Given the description of an element on the screen output the (x, y) to click on. 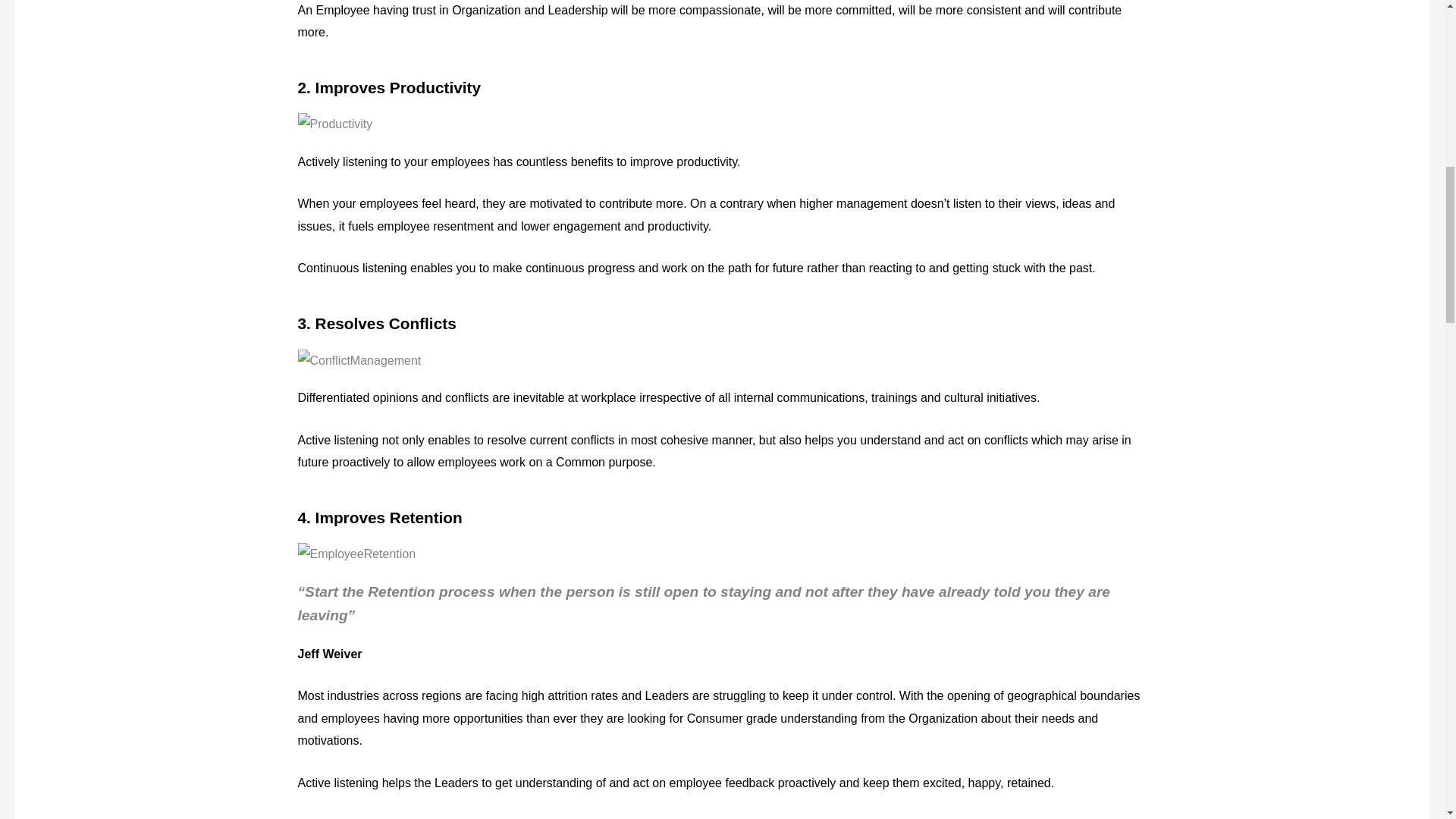
Productivity (334, 124)
ConflictManagement (358, 360)
EmployeeRetention (355, 553)
